Given the description of an element on the screen output the (x, y) to click on. 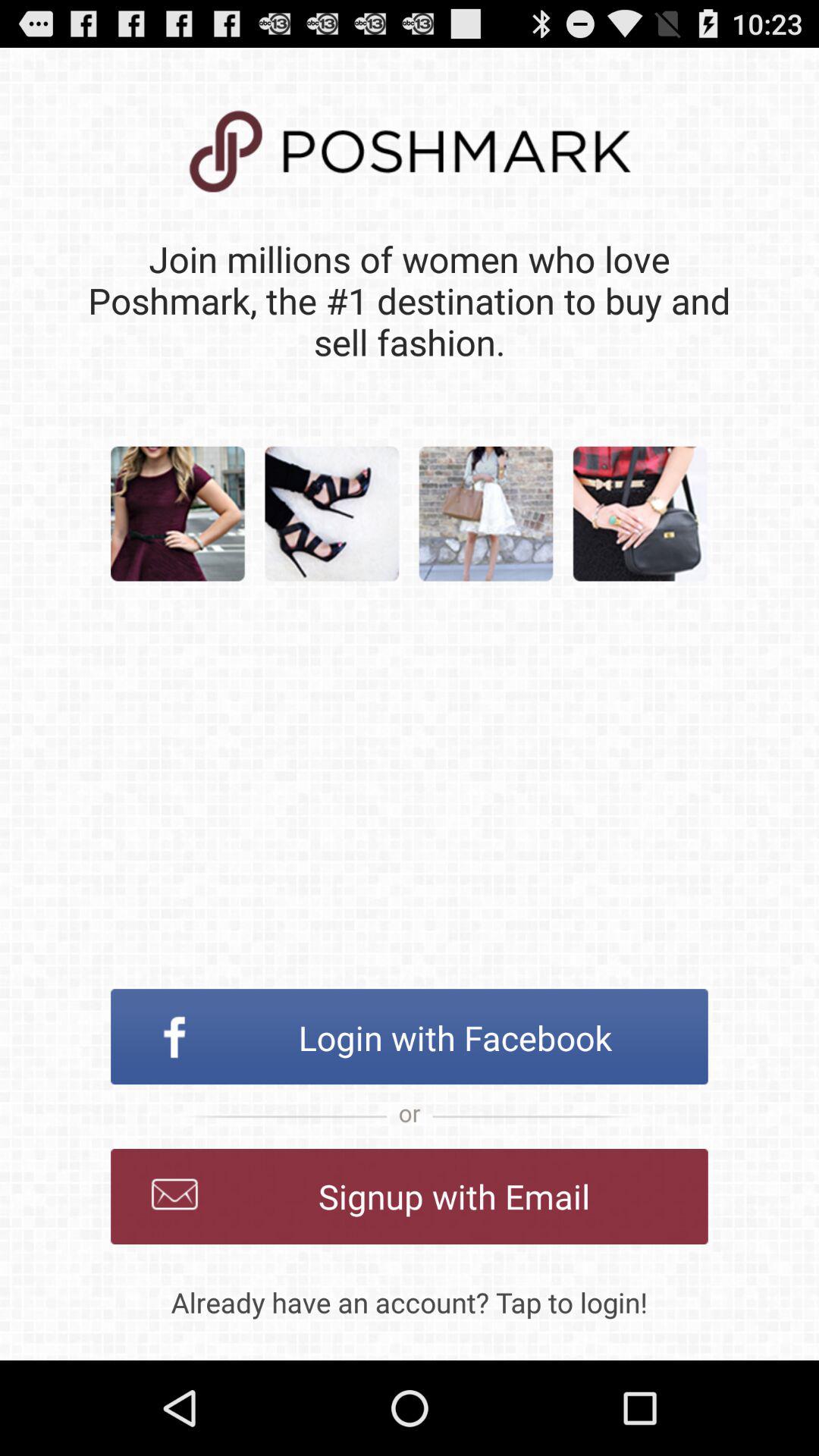
launch icon above already have an item (409, 1196)
